Given the description of an element on the screen output the (x, y) to click on. 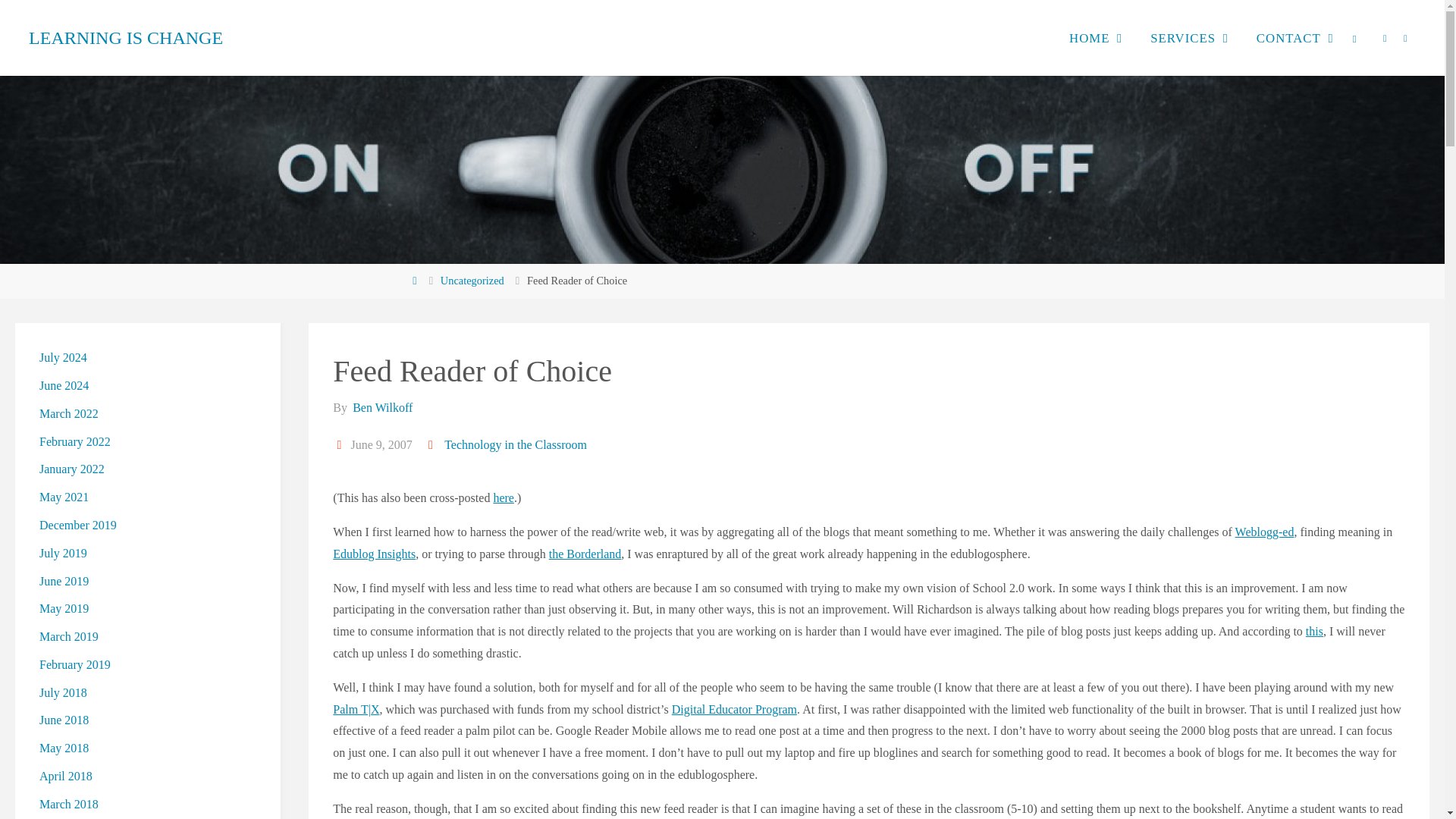
Tagged (432, 444)
HOME (1088, 38)
My name is Ben Wilkoff, and I Teach. And Learn. A Lot. (125, 37)
LEARNING IS CHANGE (125, 37)
View all posts by Ben Wilkoff (381, 407)
Date (340, 444)
